Given the description of an element on the screen output the (x, y) to click on. 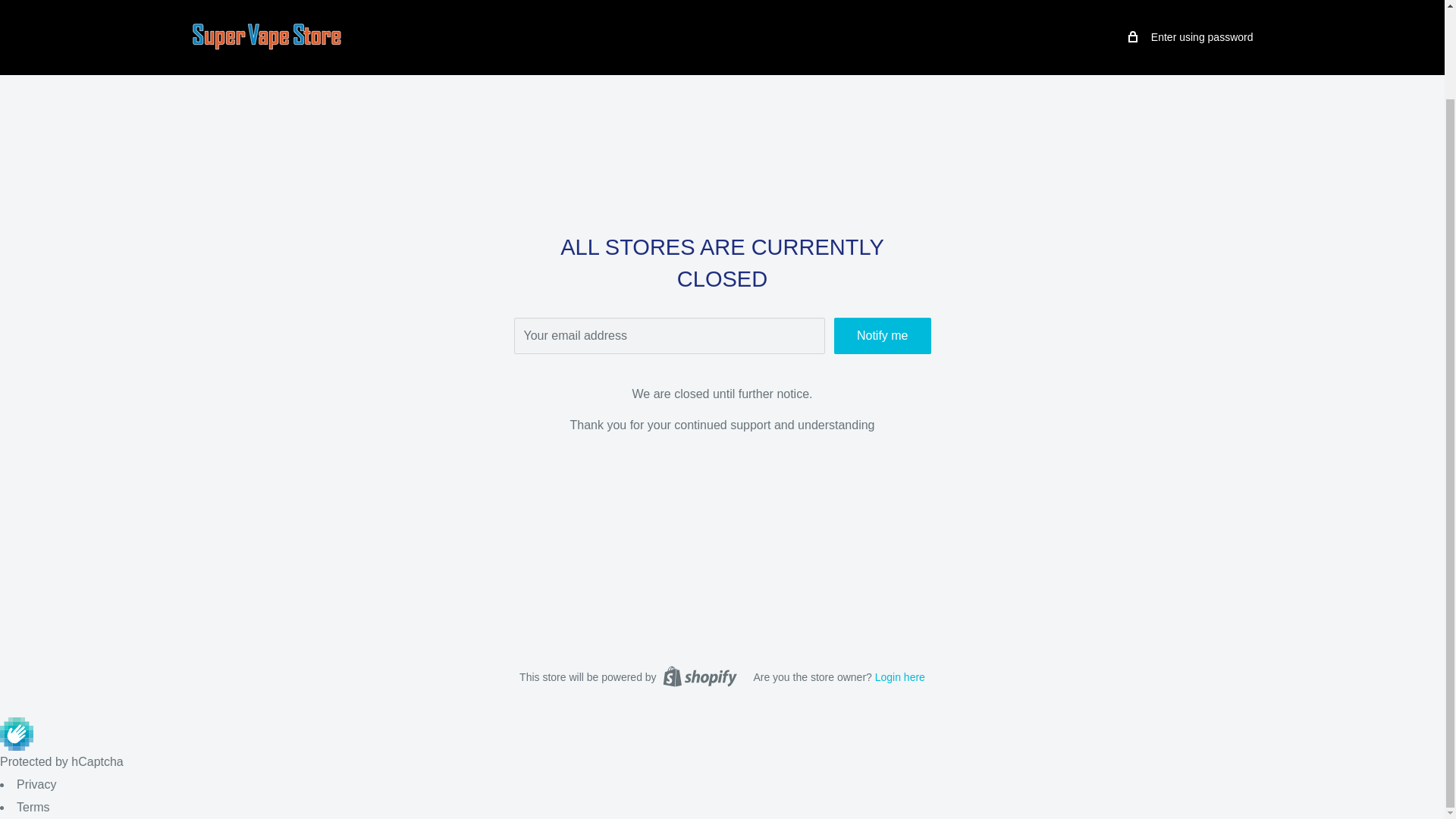
Notify me (882, 335)
Terms (32, 807)
Login here (899, 676)
Privacy (36, 784)
Create your own online store with Shopify (699, 676)
